Given the description of an element on the screen output the (x, y) to click on. 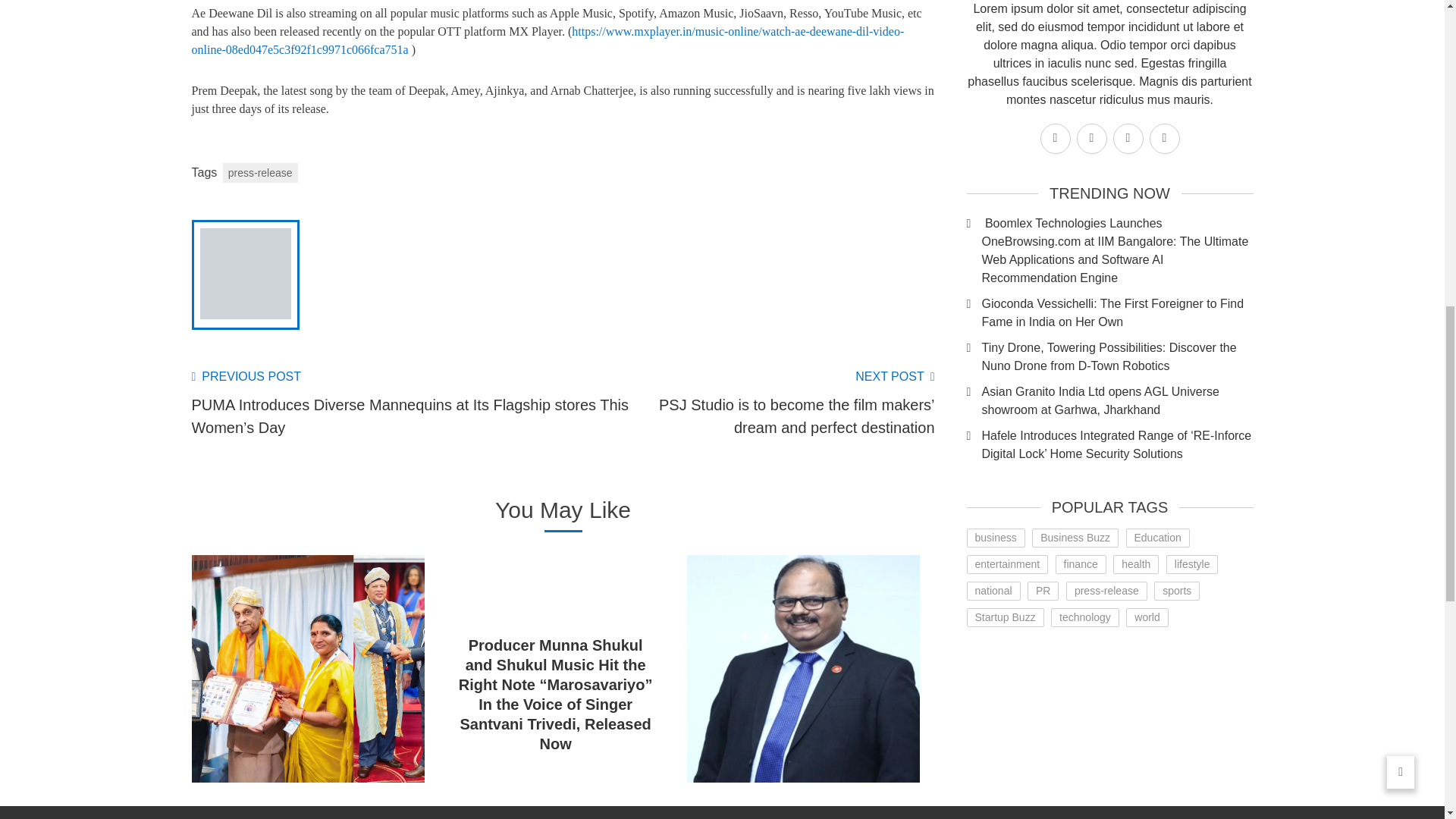
press-release (260, 172)
Business Buzz (1075, 537)
business (995, 537)
